Given the description of an element on the screen output the (x, y) to click on. 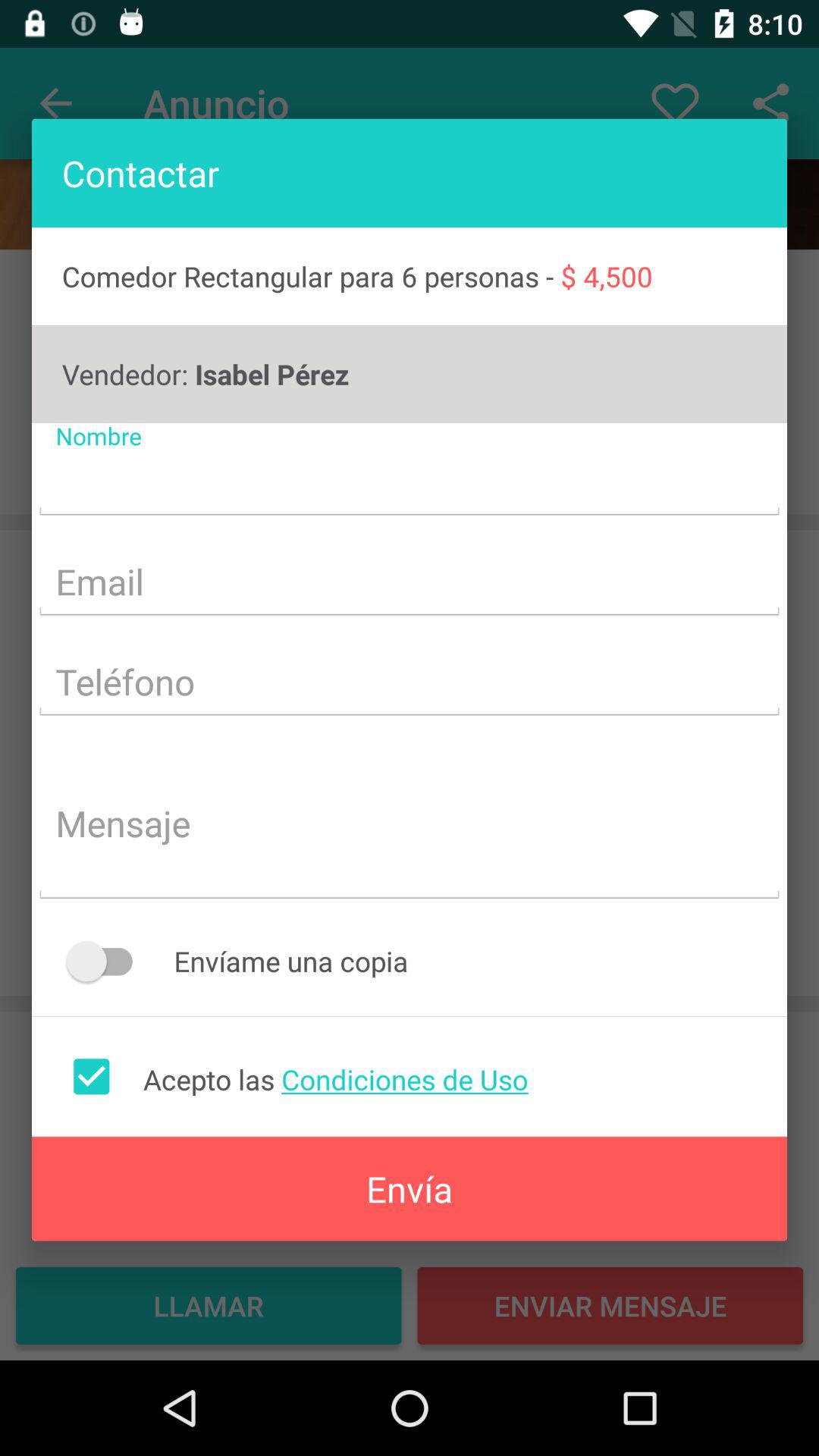
enter passward (409, 683)
